Given the description of an element on the screen output the (x, y) to click on. 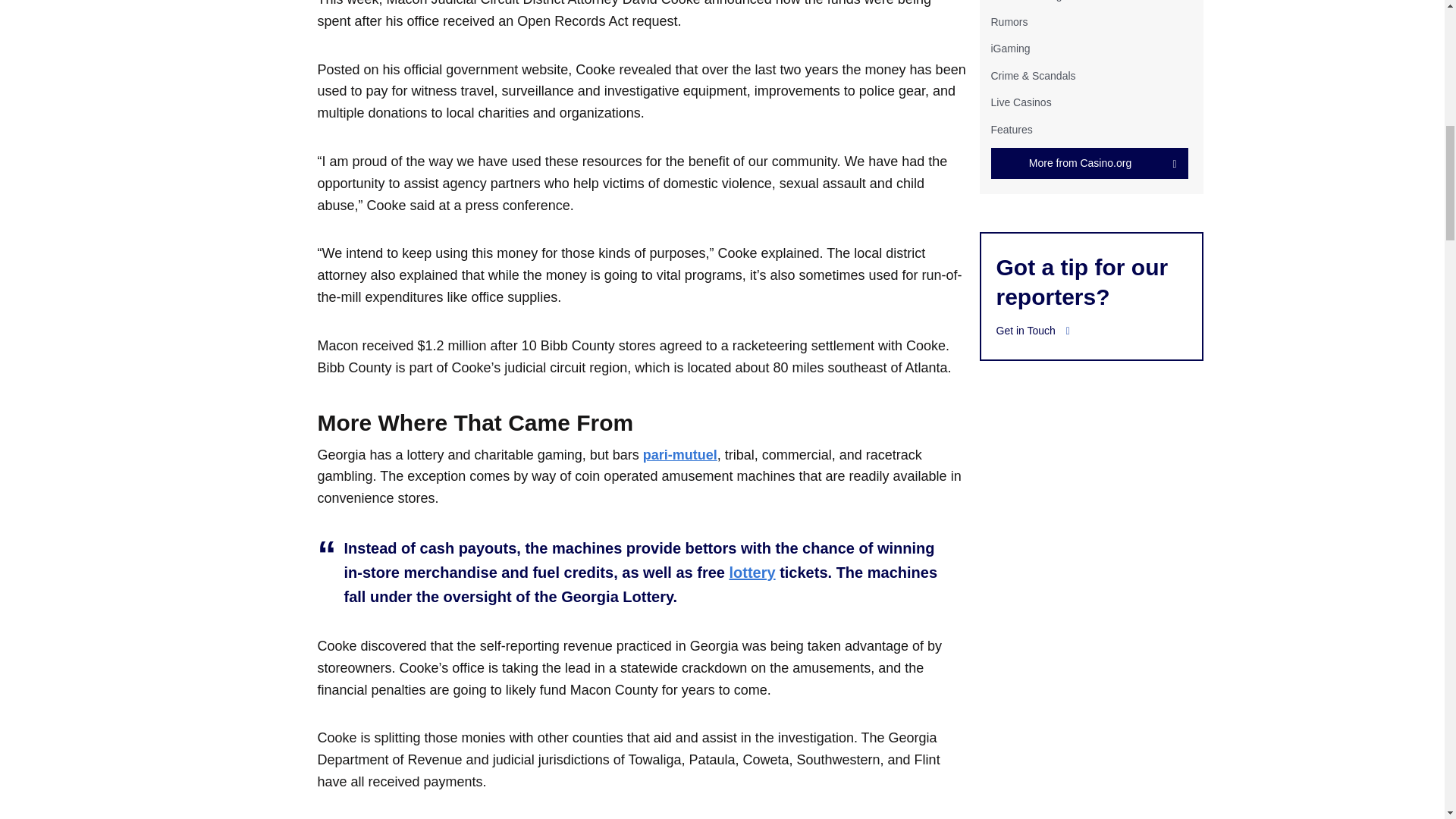
Live Casinos (1020, 102)
Mobile Gaming (1025, 0)
Mobile Gaming (1025, 0)
pari-mutuel (680, 454)
Features (1011, 128)
lottery (751, 572)
Rumors (1008, 21)
Rumors (1008, 21)
iGaming (1009, 48)
iGaming (1009, 48)
